Given the description of an element on the screen output the (x, y) to click on. 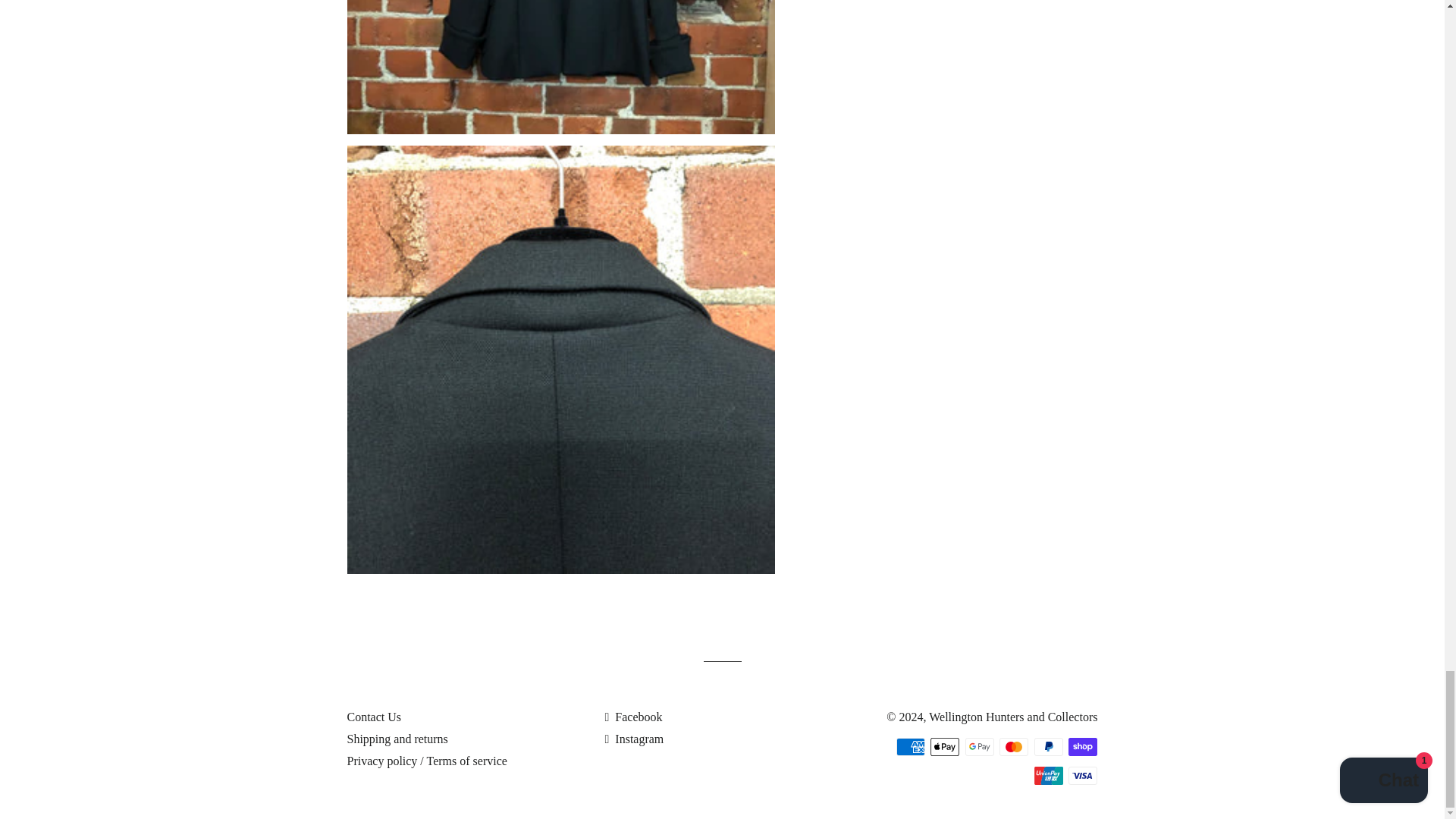
Visa (1082, 775)
Google Pay (979, 746)
Mastercard (1012, 746)
Shop Pay (1082, 746)
American Express (910, 746)
Union Pay (1047, 775)
Wellington Hunters and Collectors on Instagram (633, 738)
Apple Pay (944, 746)
PayPal (1047, 746)
Wellington Hunters and Collectors on Facebook (633, 716)
